Given the description of an element on the screen output the (x, y) to click on. 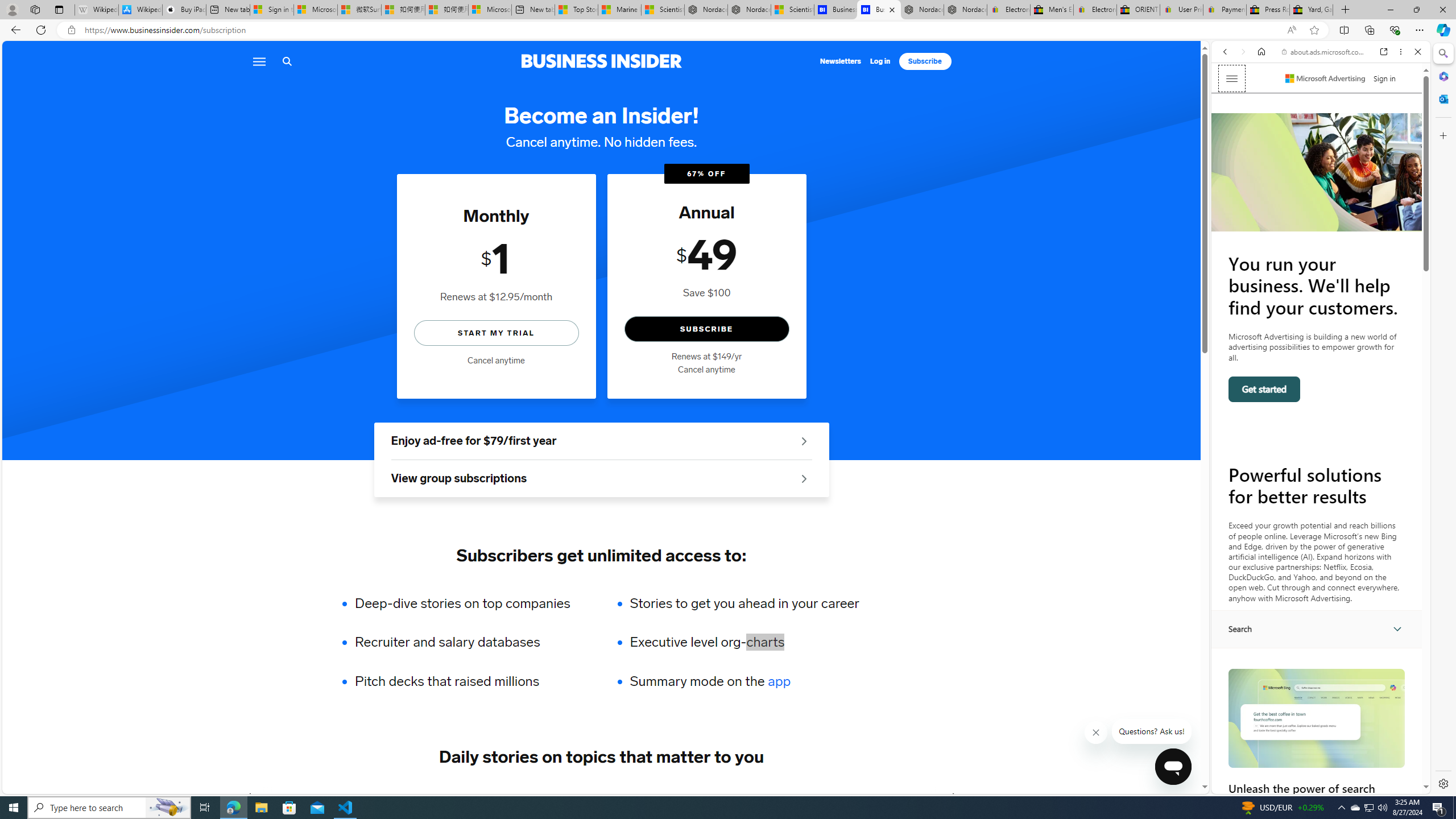
PERSONAL FINANCE (577, 796)
MEDIA (953, 796)
EXECUTIVE LIFESTYLE (788, 796)
Close message from company (1096, 732)
Menu (257, 61)
START MY TRIAL (496, 332)
